Given the description of an element on the screen output the (x, y) to click on. 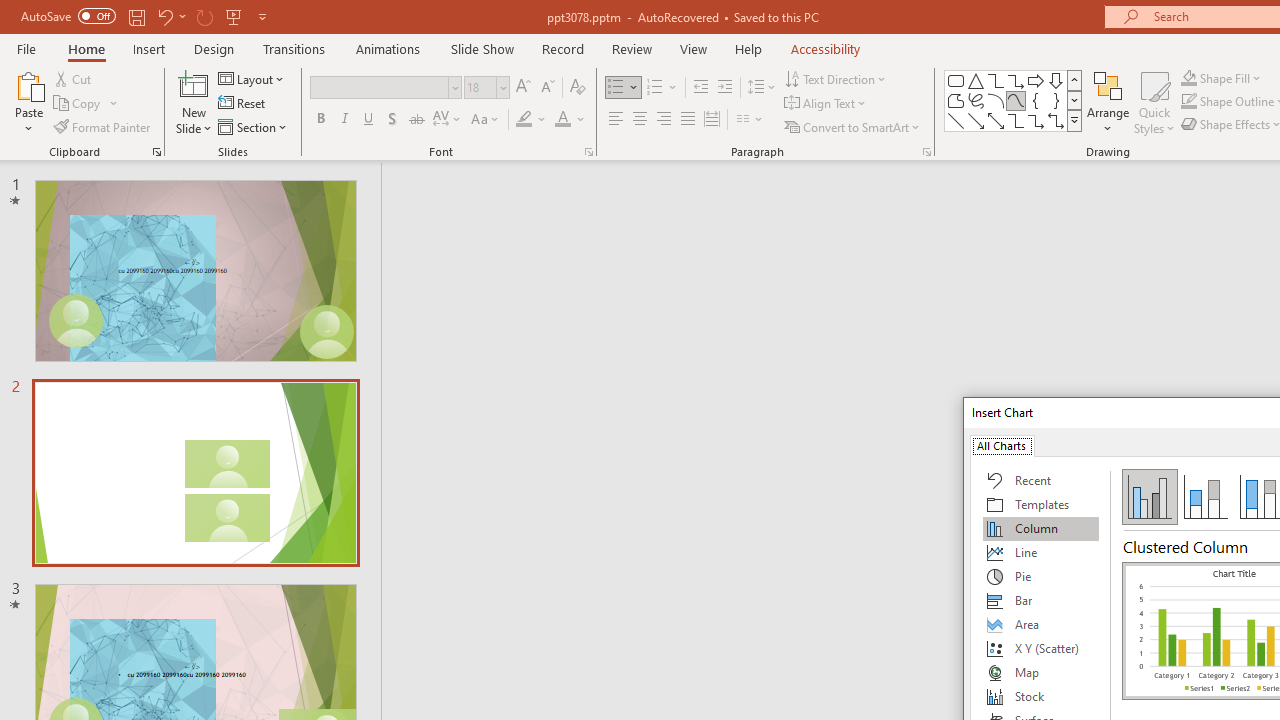
Column (1041, 528)
